Given the description of an element on the screen output the (x, y) to click on. 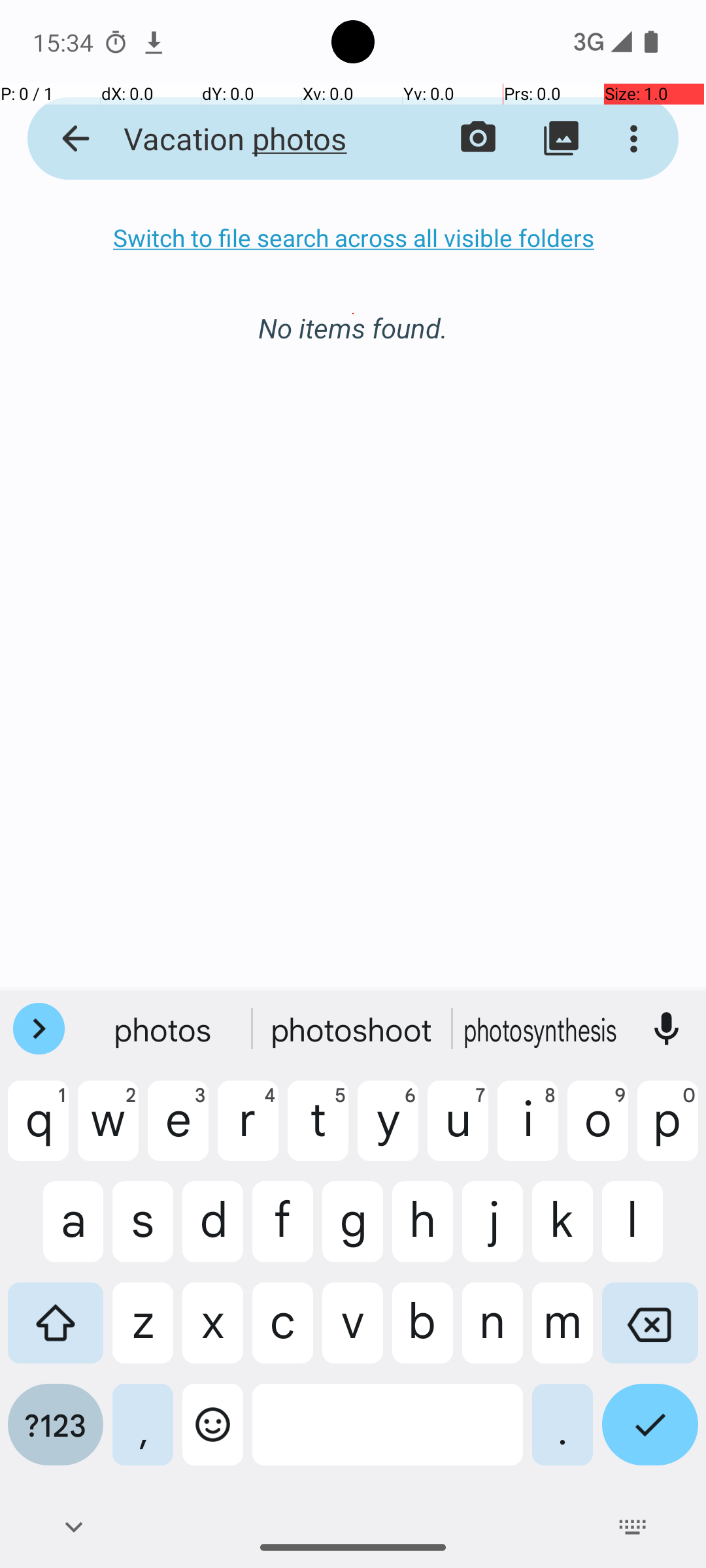
Switch to file search across all visible folders Element type: android.widget.TextView (353, 237)
Vacation photos Element type: android.widget.EditText (252, 138)
photos Element type: android.widget.FrameLayout (163, 1028)
photography Element type: android.widget.FrameLayout (541, 1028)
